Given the description of an element on the screen output the (x, y) to click on. 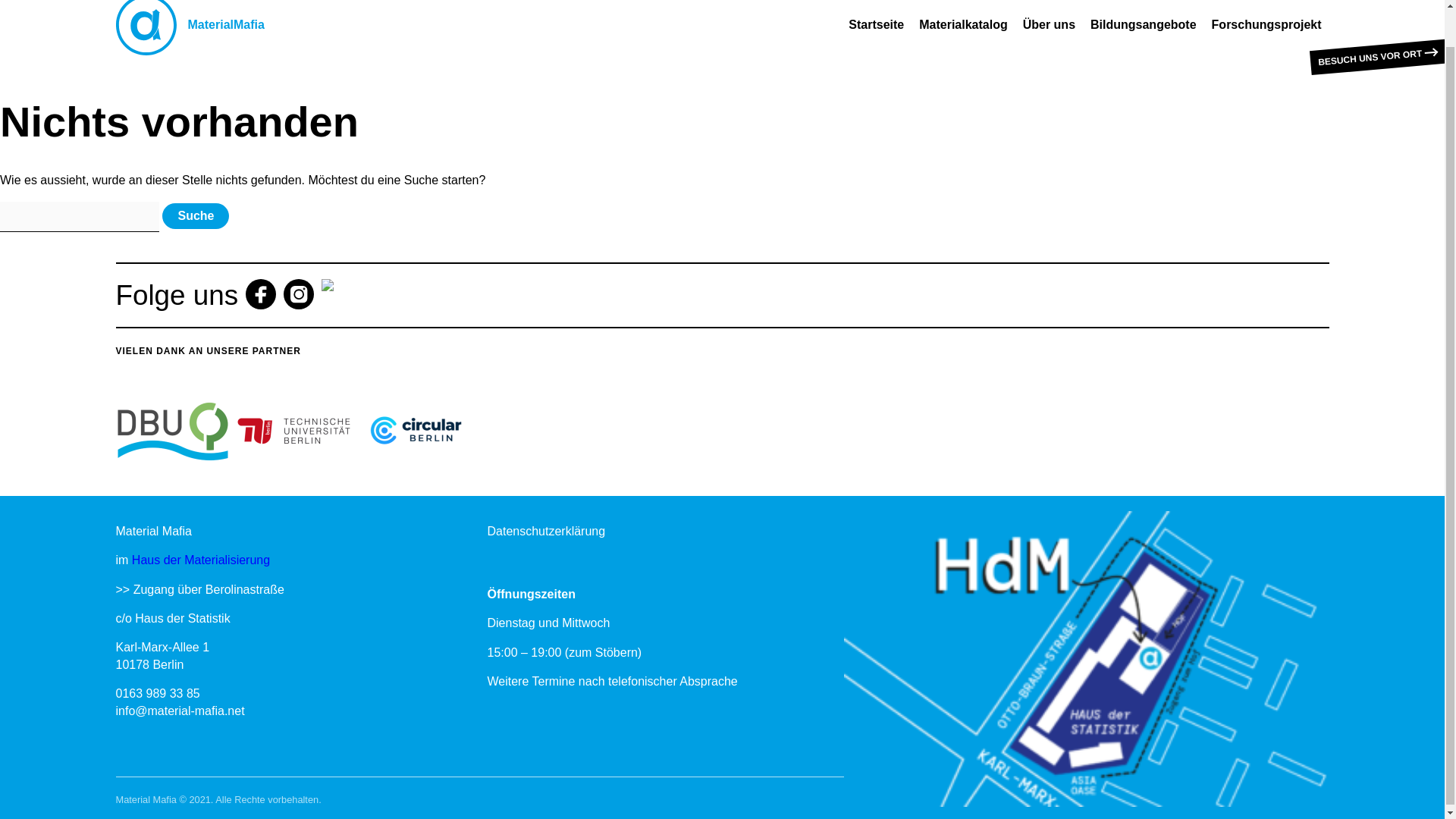
Suche (194, 216)
Bildungsangebote (1143, 24)
MaterialMafia (189, 27)
Forschungsprojekt (1266, 24)
Startseite (876, 24)
Suche (194, 216)
Materialkatalog (962, 24)
Haus der Materialisierung (200, 559)
